Given the description of an element on the screen output the (x, y) to click on. 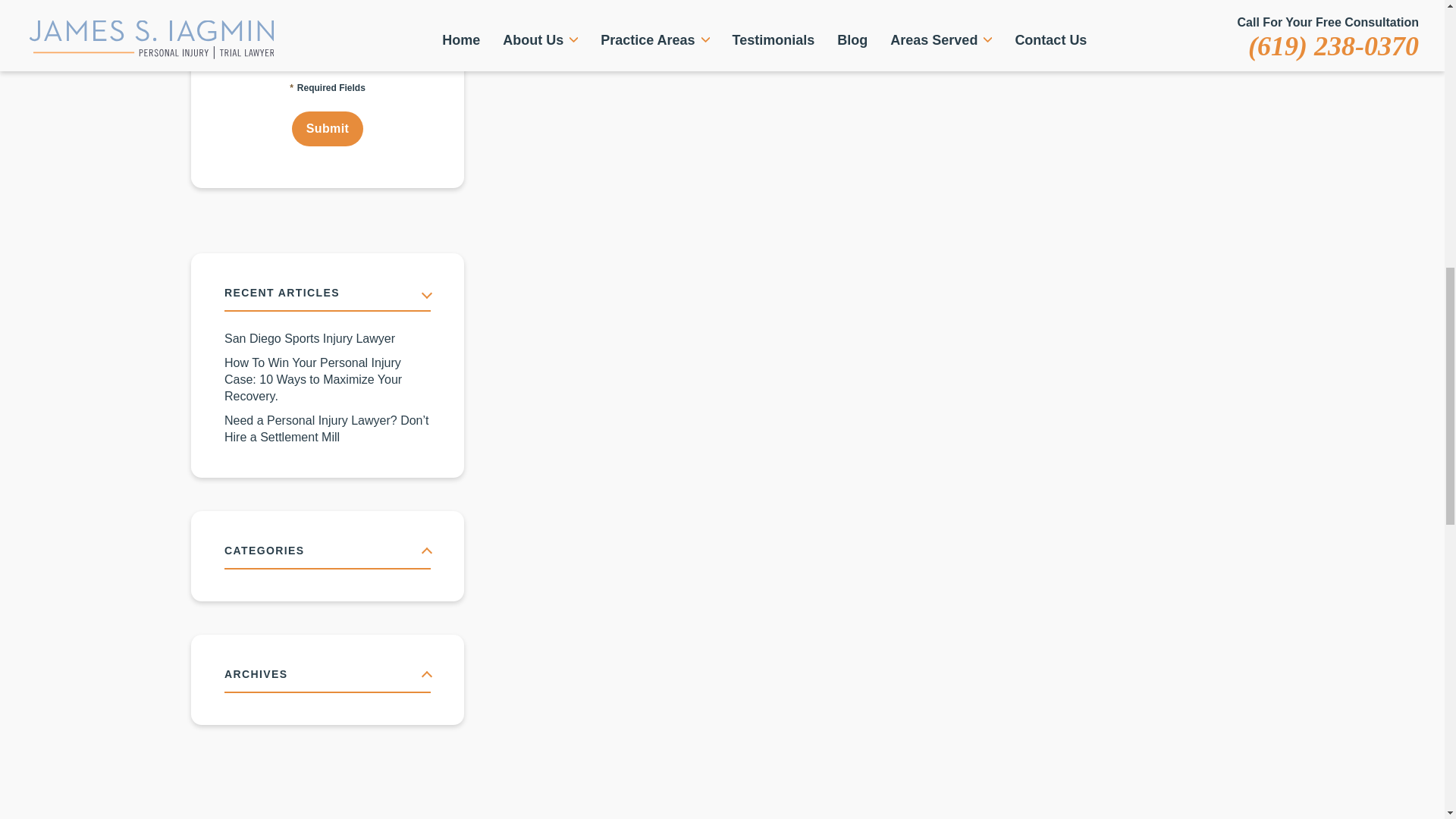
Submit (328, 128)
San Diego Sports Injury Lawyer (327, 338)
